Given the description of an element on the screen output the (x, y) to click on. 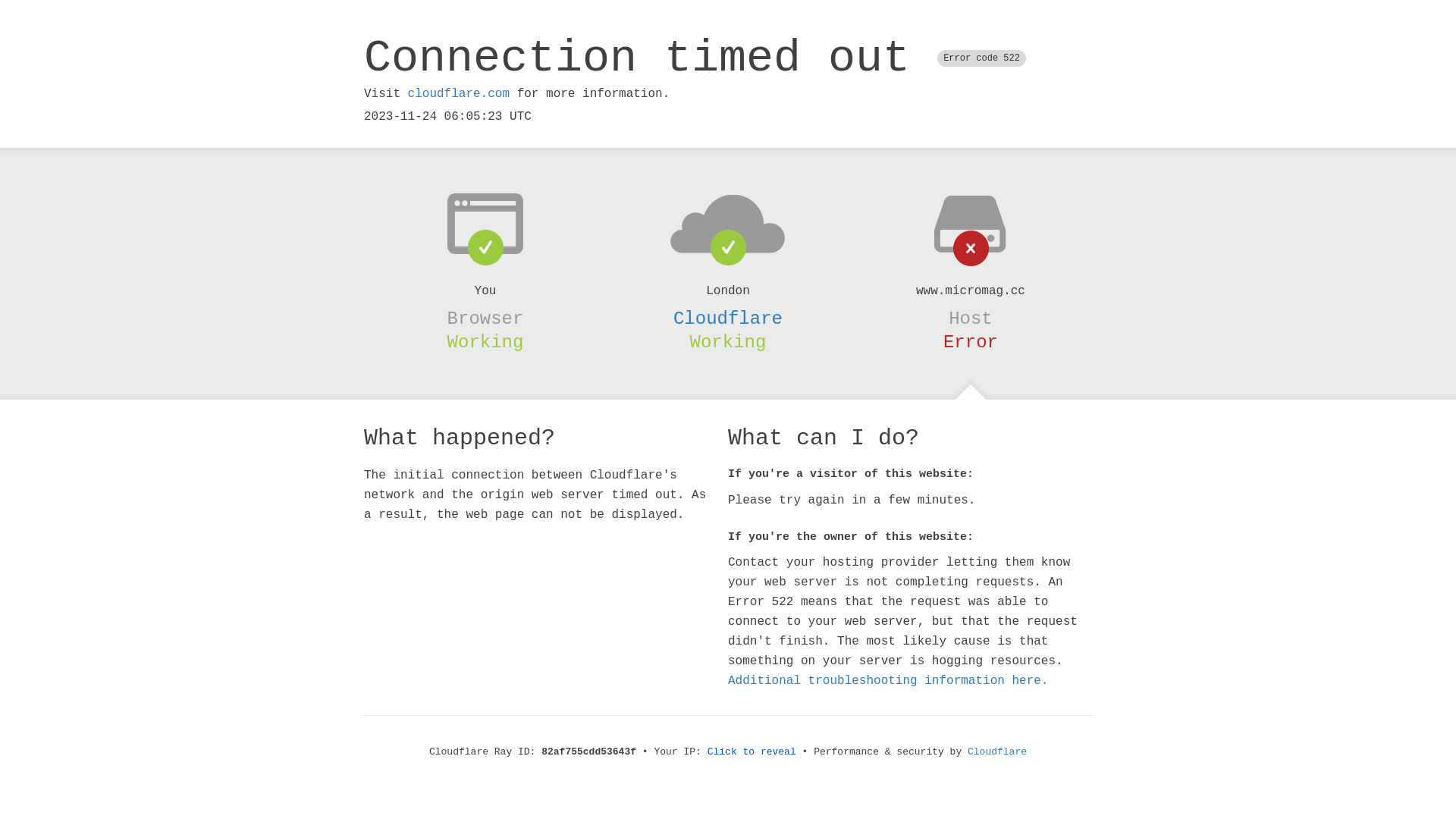
cloudflare.com Element type: text (458, 93)
Cloudflare Element type: text (996, 751)
Cloudflare Element type: text (727, 318)
Click to reveal Element type: text (751, 751)
Additional troubleshooting information here. Element type: text (888, 680)
